Given the description of an element on the screen output the (x, y) to click on. 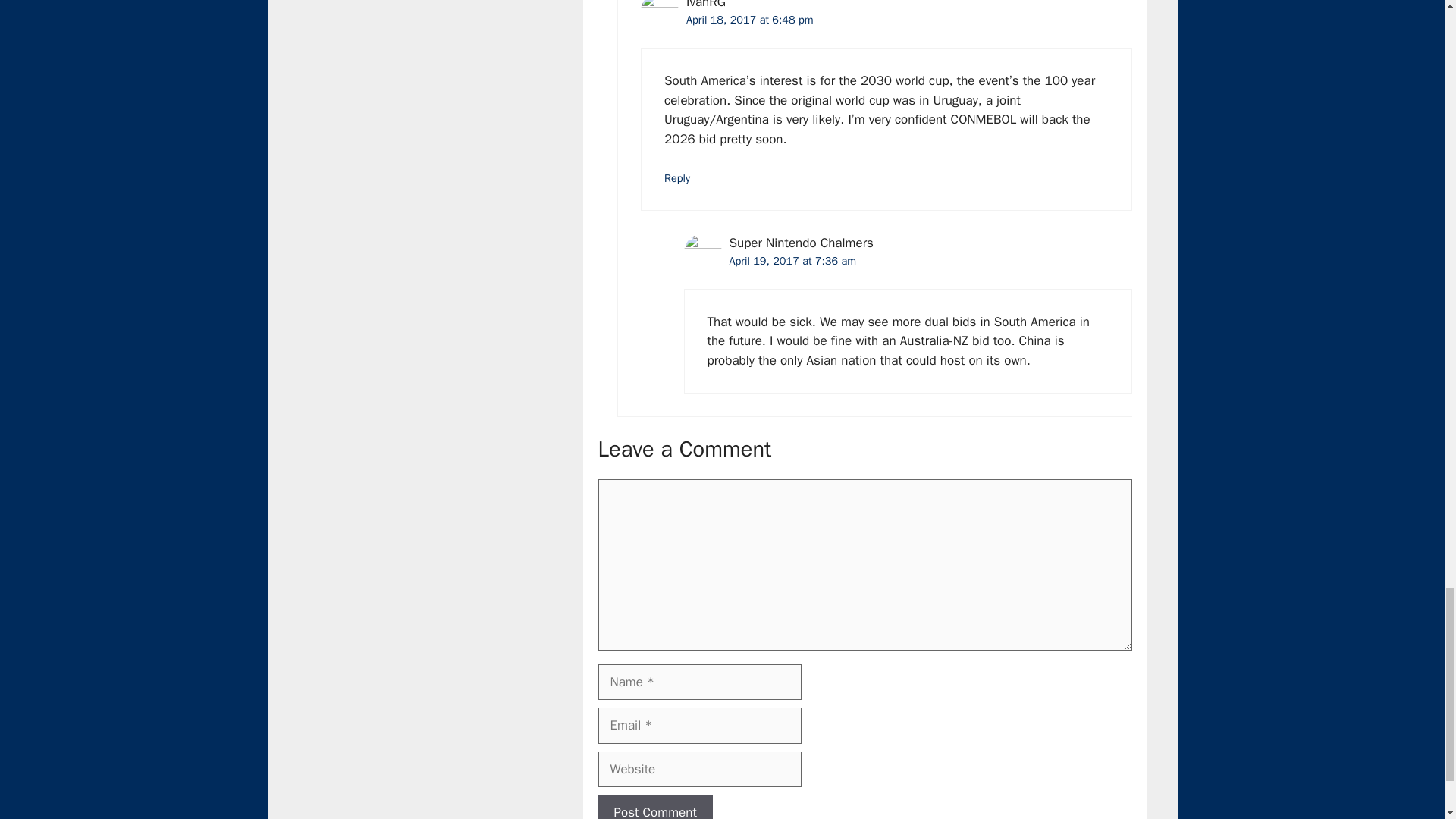
Post Comment (653, 806)
